Given the description of an element on the screen output the (x, y) to click on. 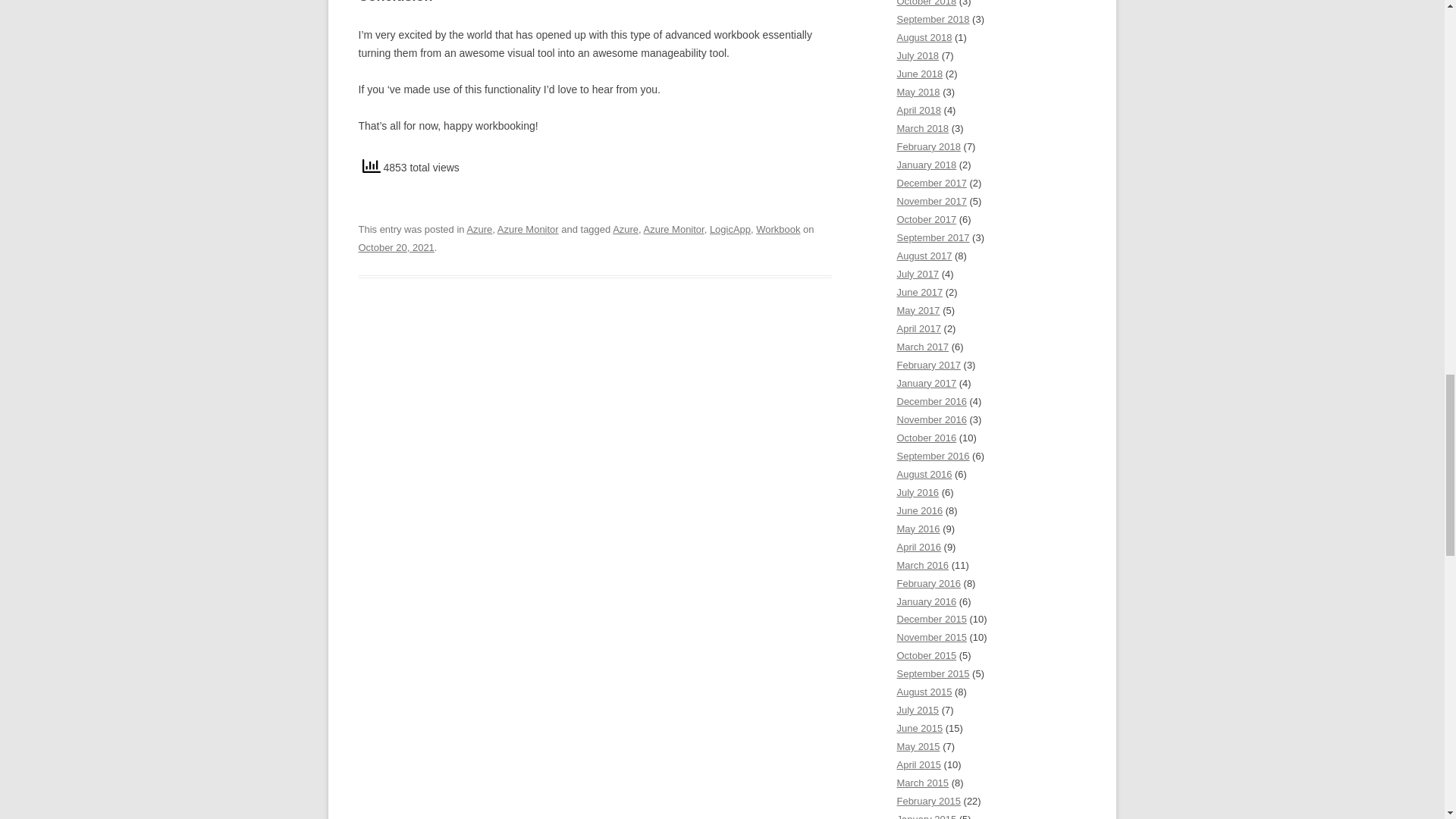
Azure Monitor (673, 229)
8:15 am (395, 247)
Workbook (777, 229)
LogicApp (730, 229)
Azure (625, 229)
Azure (478, 229)
October 20, 2021 (395, 247)
Azure Monitor (528, 229)
